Given the description of an element on the screen output the (x, y) to click on. 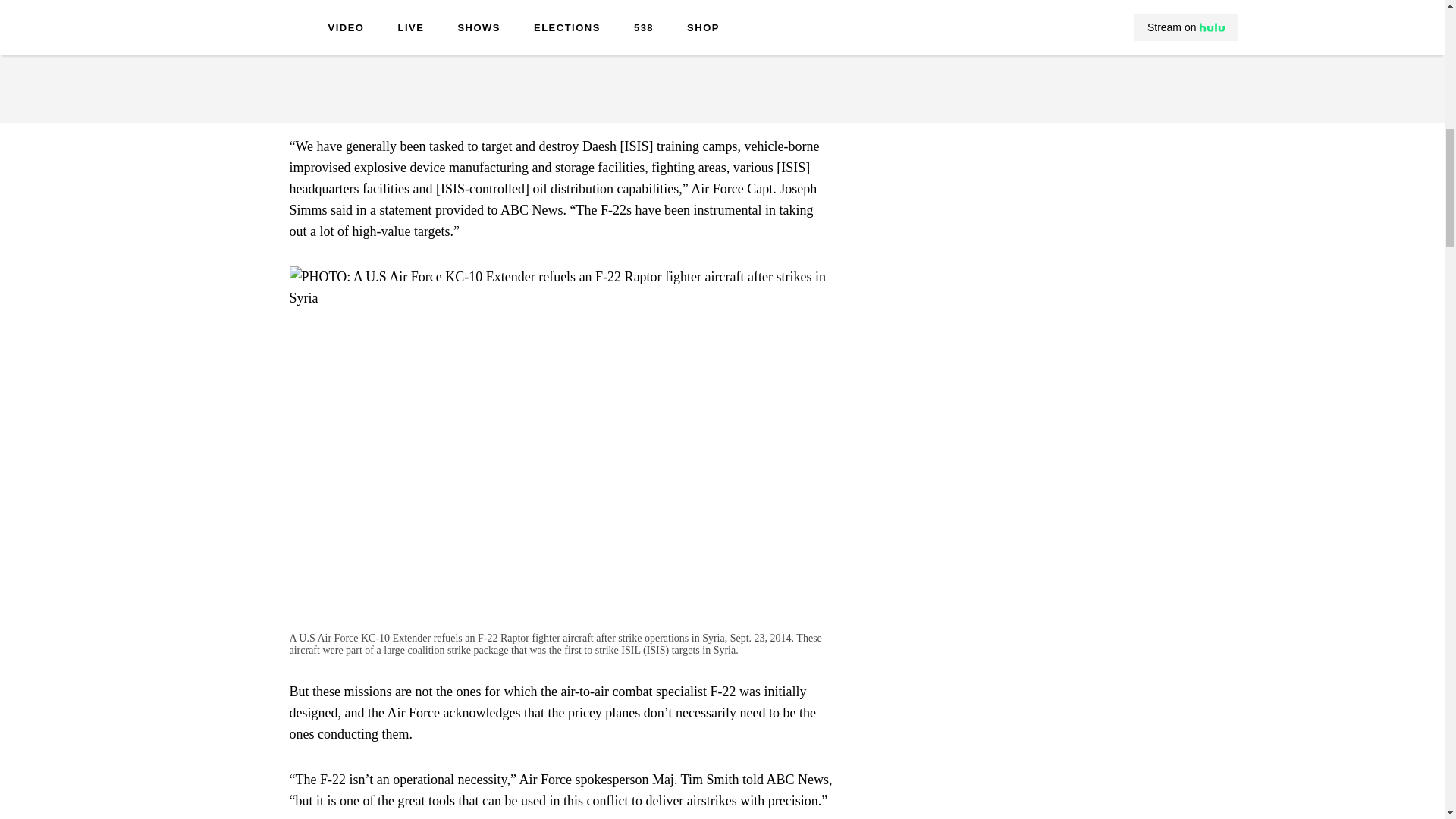
maiden mission in September 2014 (607, 58)
in previous campaigns (743, 37)
ISIS (479, 79)
